Given the description of an element on the screen output the (x, y) to click on. 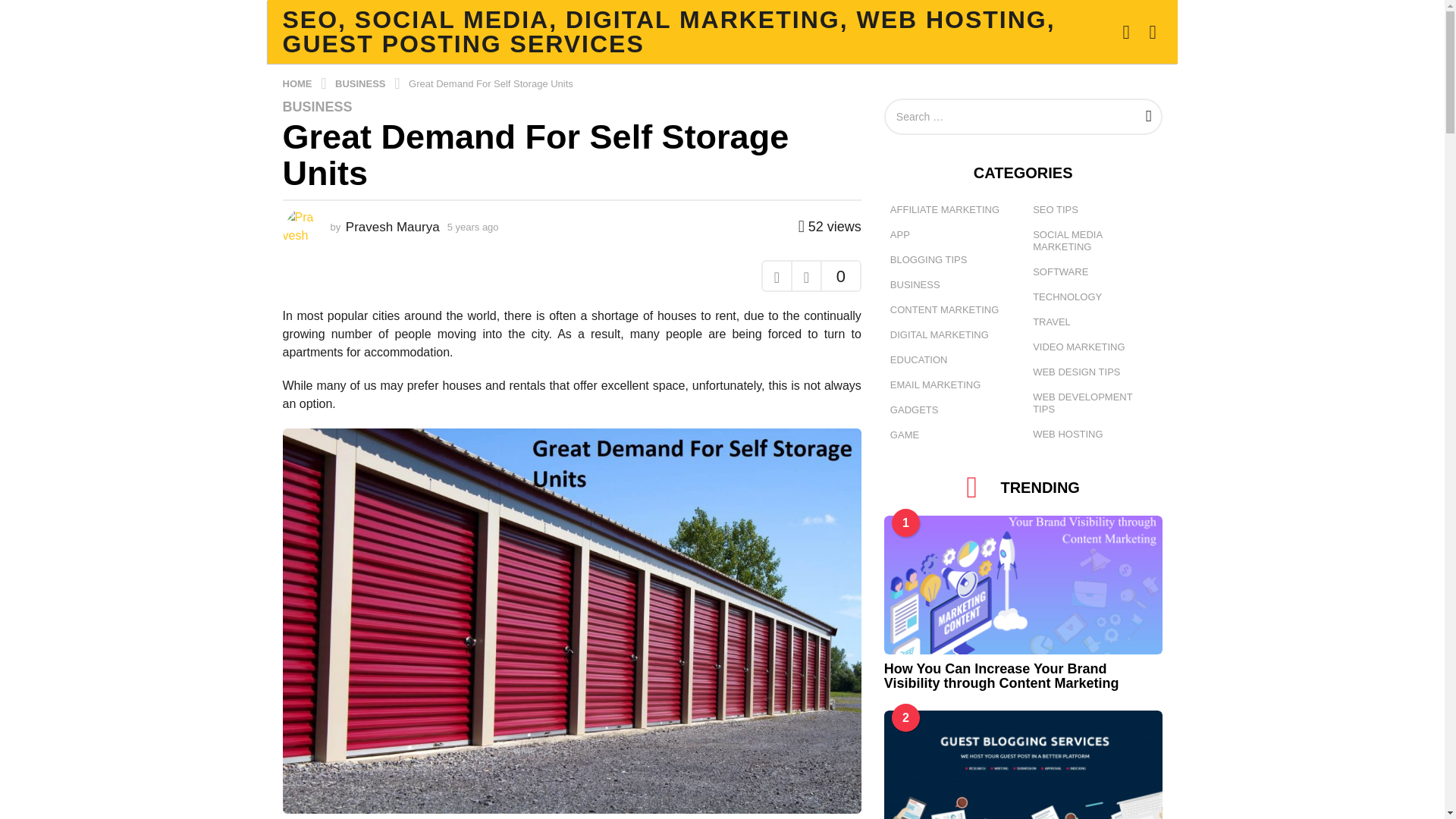
BUSINESS (317, 106)
HOME (298, 82)
Pravesh Maurya (392, 227)
Great Demand For Self Storage Units (491, 82)
BUSINESS (361, 82)
